Given the description of an element on the screen output the (x, y) to click on. 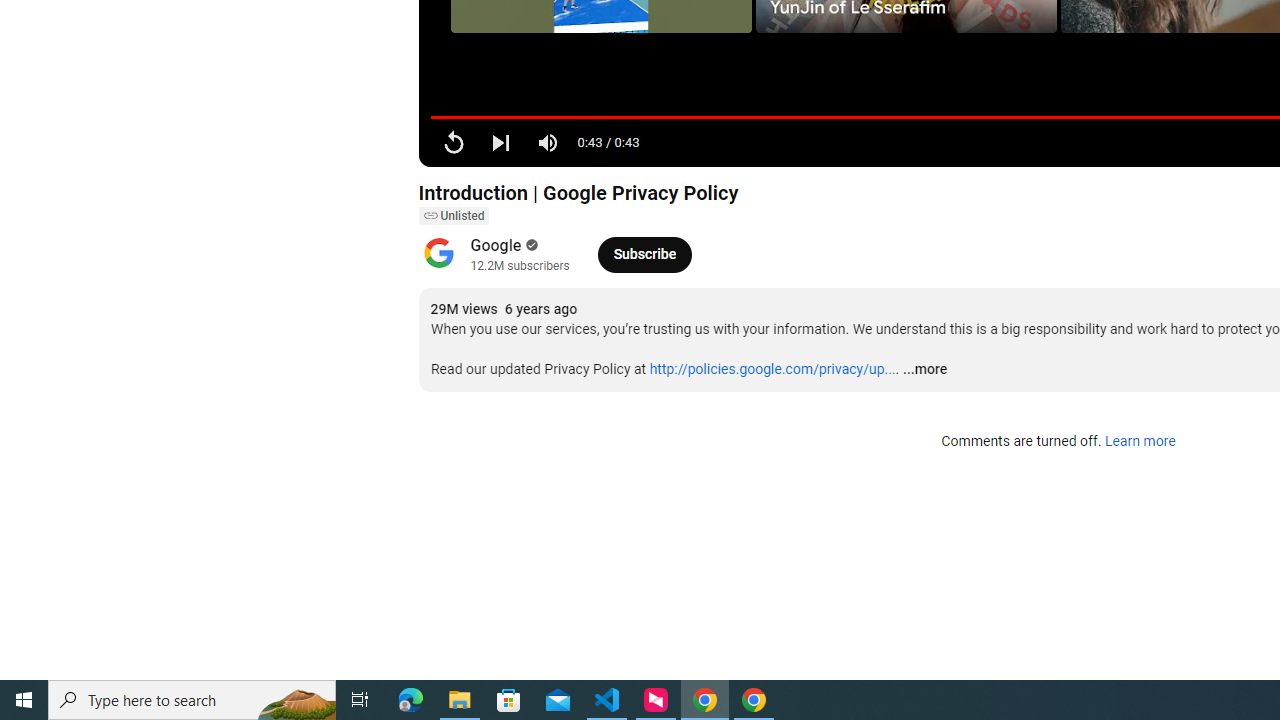
Verified (530, 245)
Learn more (1139, 442)
Pause (k) (453, 142)
http://policies.google.com/privacy/up... (772, 369)
...more (924, 370)
Next (SHIFT+n) (500, 142)
Unlisted (453, 216)
Subscribe to Google. (644, 254)
Mute (m) (548, 142)
Google (496, 245)
